Given the description of an element on the screen output the (x, y) to click on. 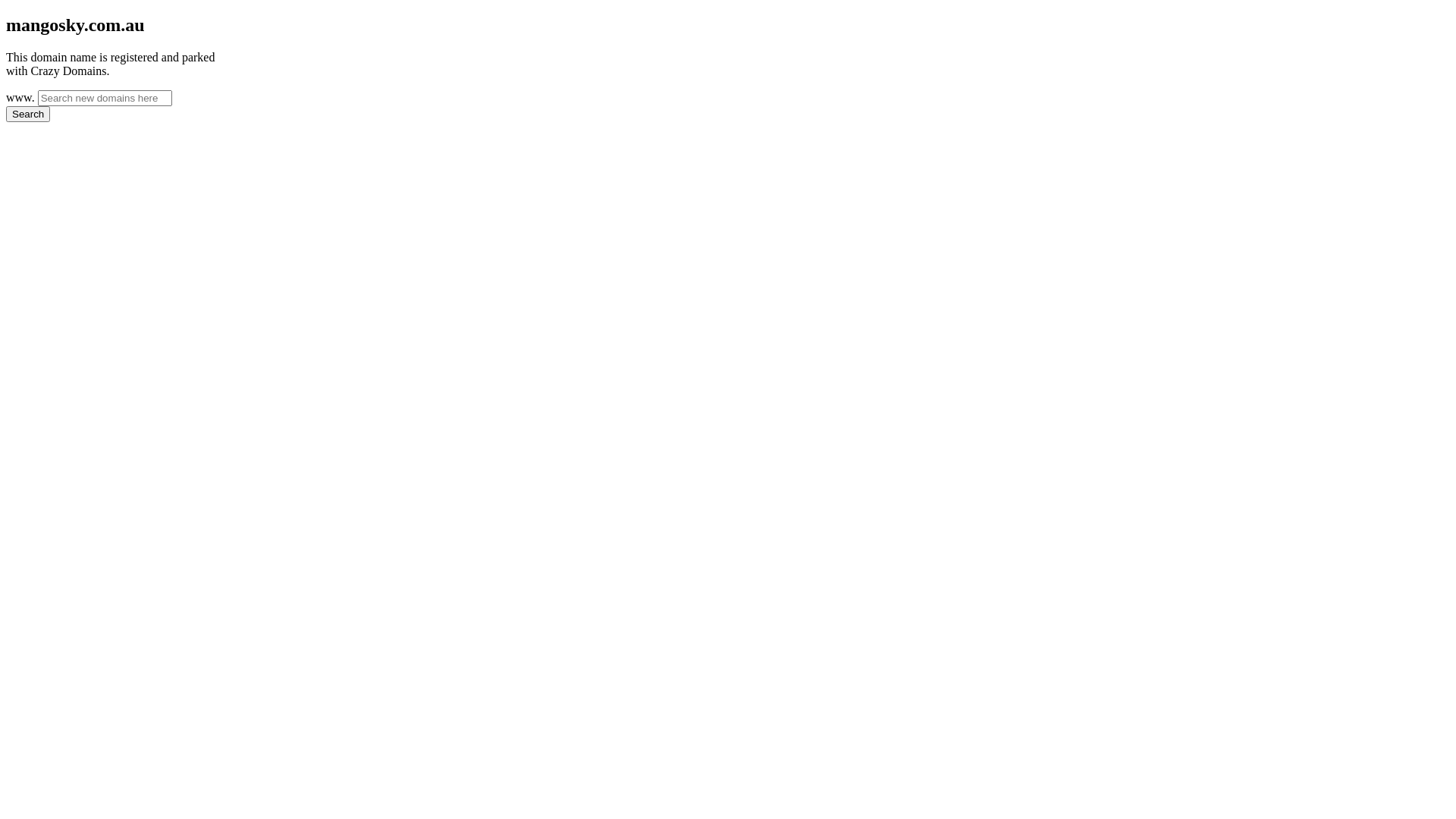
Search Element type: text (28, 114)
